Given the description of an element on the screen output the (x, y) to click on. 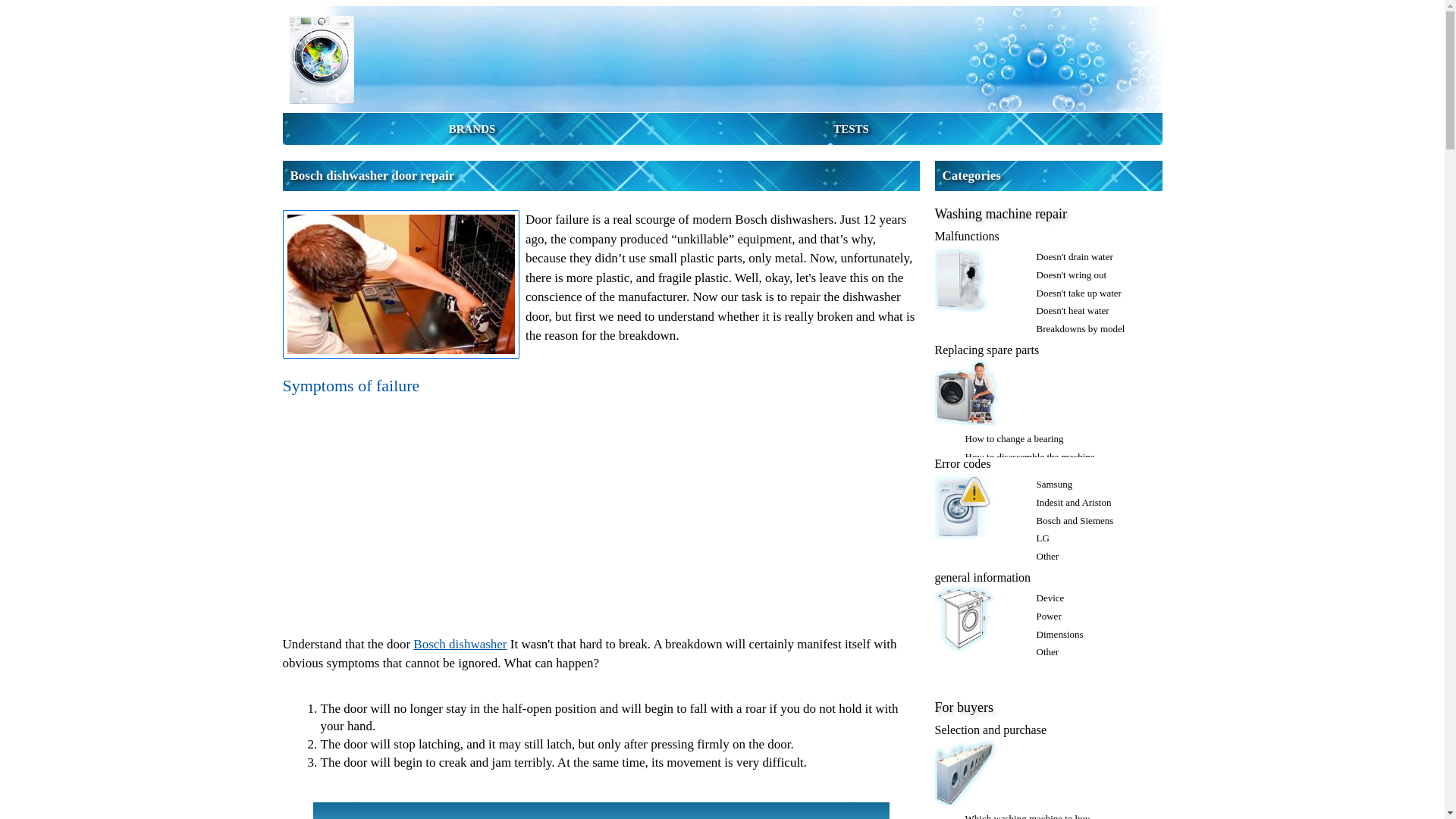
Breakdowns by model (1079, 328)
Doesn't take up water (1078, 292)
Device (1049, 597)
Which washing machine to buy (1026, 816)
Selection and purchase (990, 729)
Bosch and Siemens (1074, 520)
LG (1041, 537)
All faults (1054, 346)
Bosch dishwasher (459, 644)
Other (1046, 555)
Power (1048, 615)
How to change a bearing (1012, 438)
Samsung (1053, 483)
Doesn't heat water (1071, 310)
TESTS (851, 128)
